Given the description of an element on the screen output the (x, y) to click on. 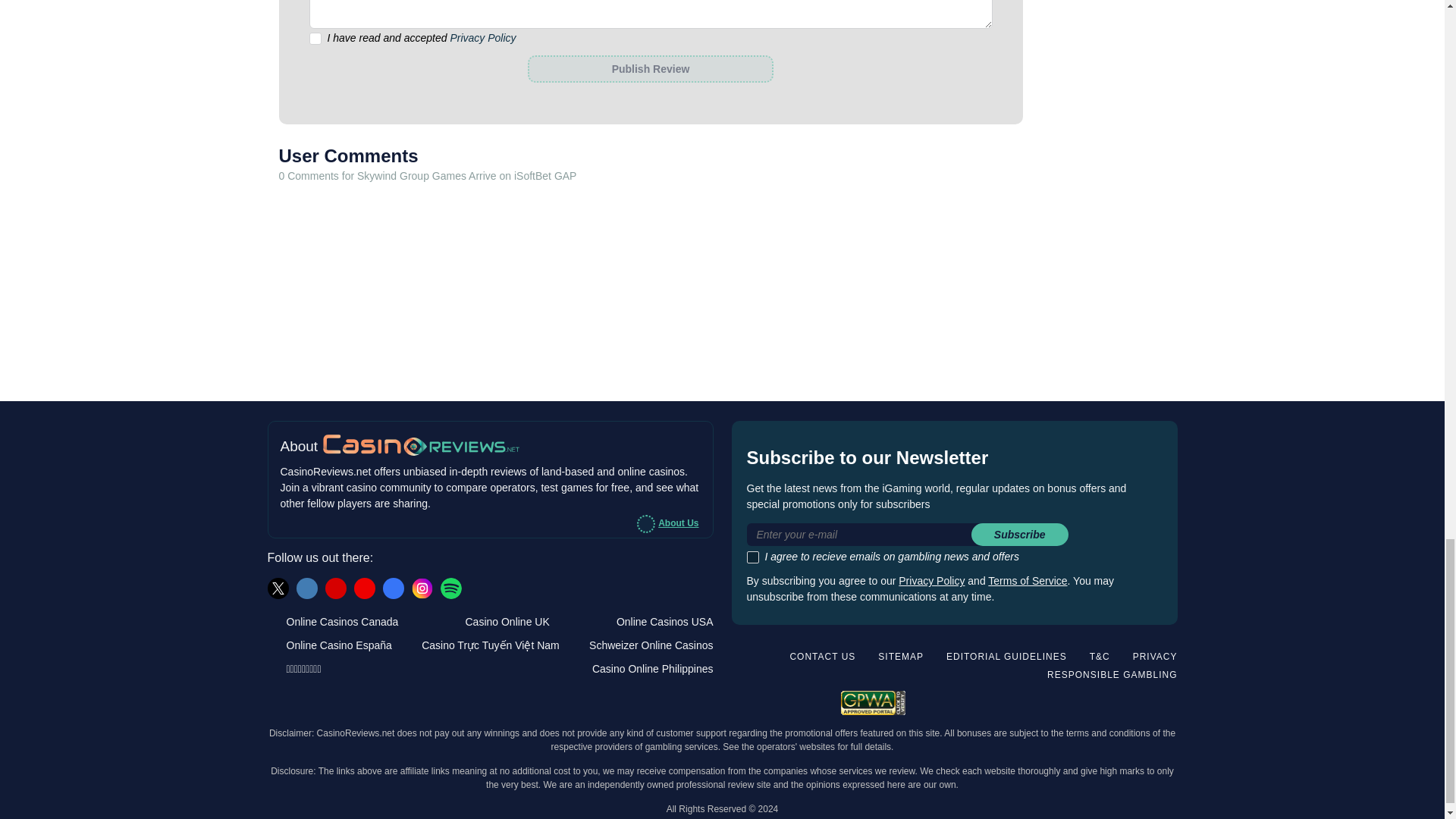
Publish Review (650, 68)
Subscribe (1019, 534)
DMCA.com Protection Status (1126, 700)
